Given the description of an element on the screen output the (x, y) to click on. 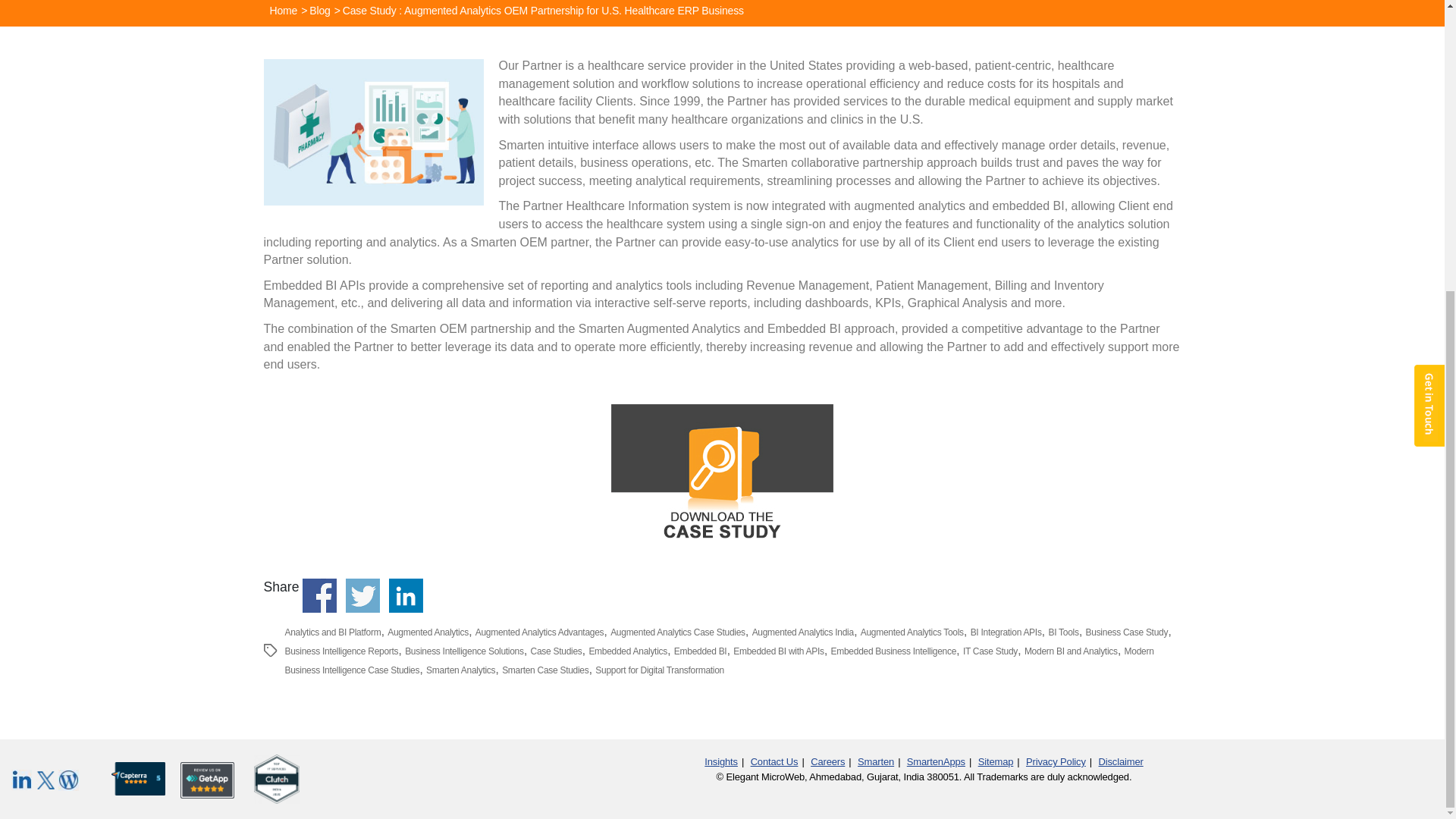
Twitter (46, 780)
LinkedIn (22, 779)
Go to the Blog category archives. (320, 10)
Read Smarten Reviews on GetApp (275, 778)
Augmented Analytics and Advanced Analytics Smarten Blog (68, 780)
Read Smarten Reviews on GetApp (207, 775)
